Given the description of an element on the screen output the (x, y) to click on. 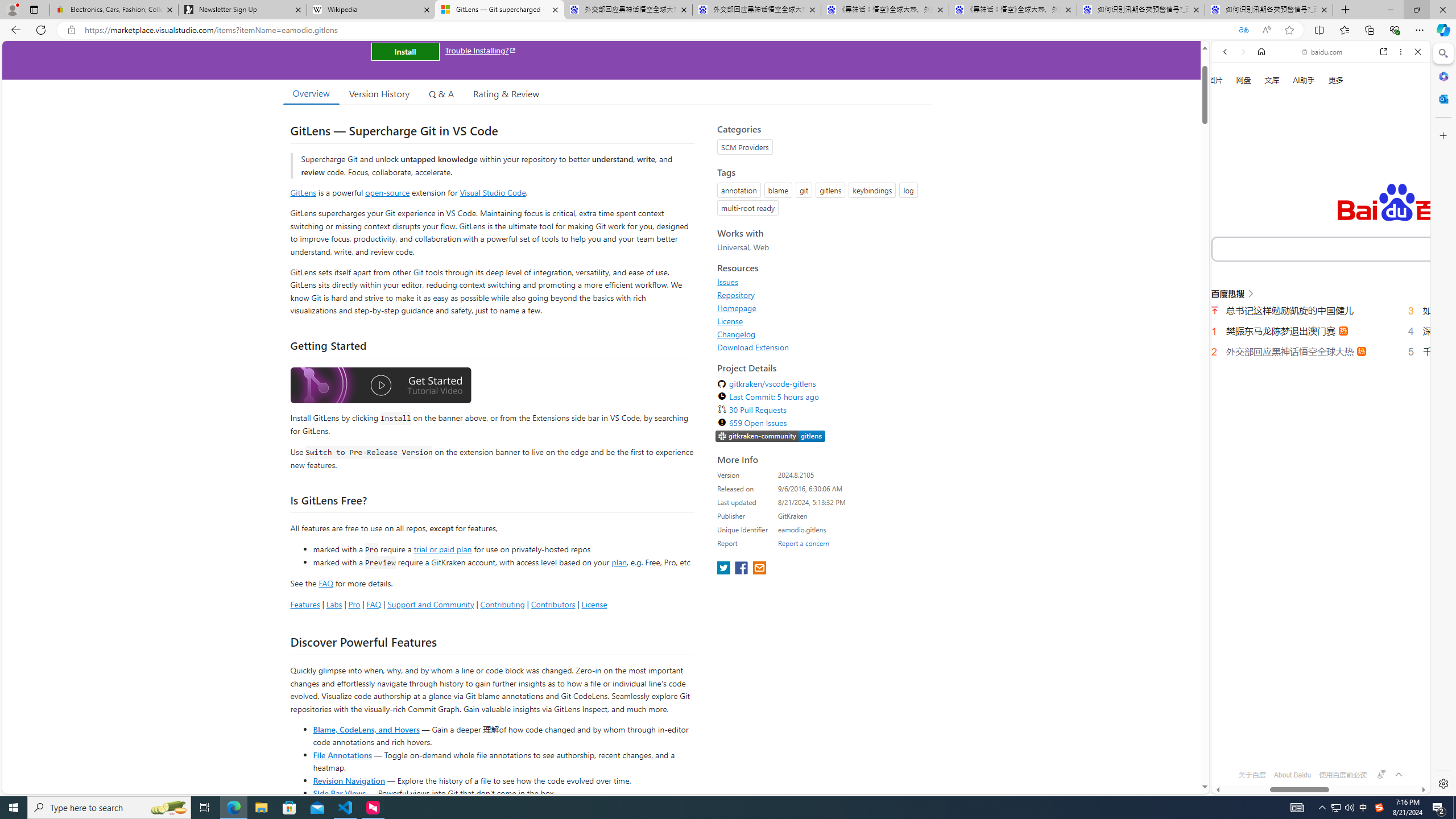
OFTV (1315, 743)
plan (618, 562)
Blame, CodeLens, and Hovers (366, 728)
English (US) (1320, 329)
Q & A (441, 92)
